Given the description of an element on the screen output the (x, y) to click on. 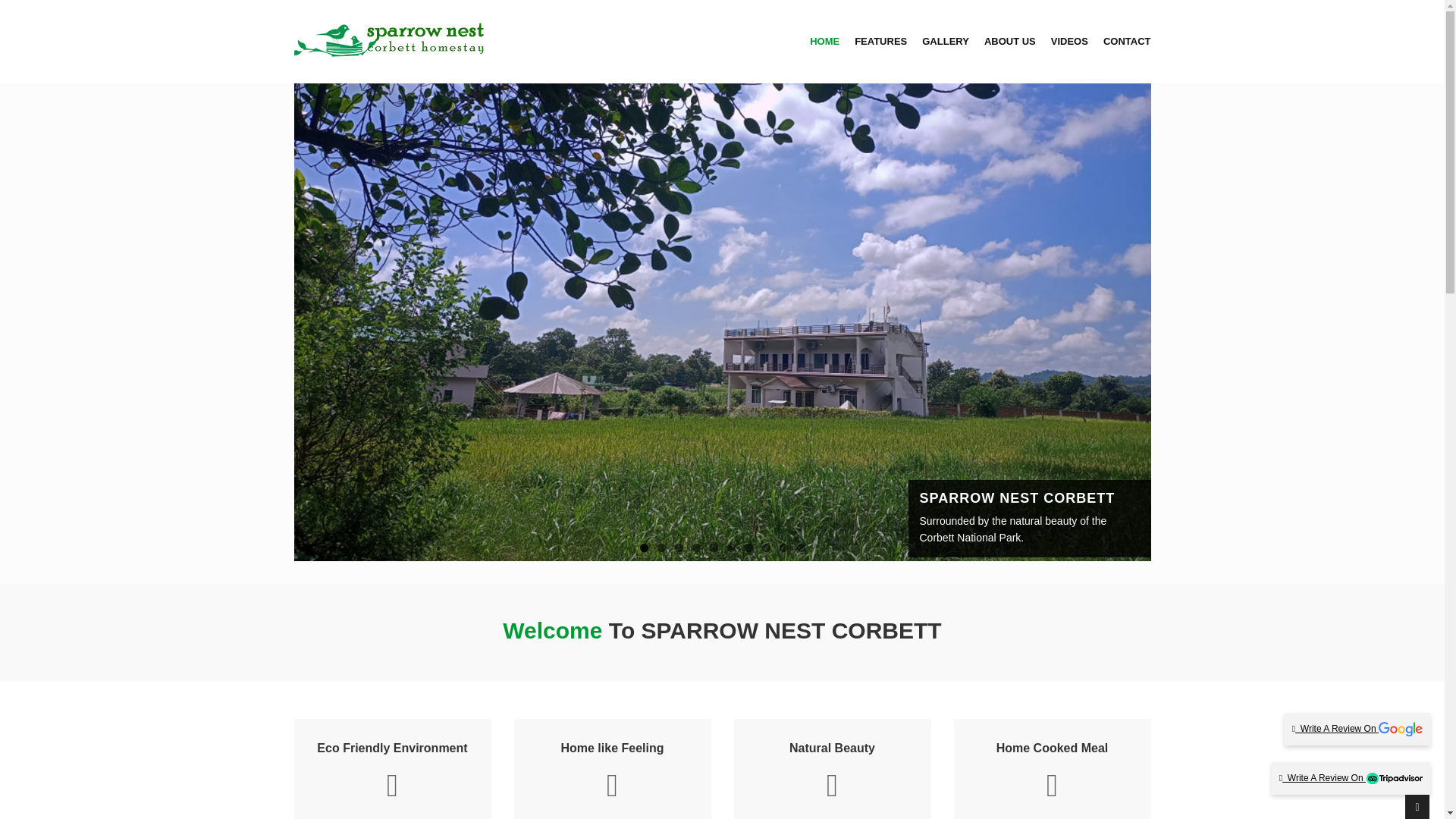
ABOUT US (1009, 41)
CONTACT (1127, 41)
8 (765, 547)
FEATURES (880, 41)
VIDEOS (1069, 41)
2 (660, 547)
6 (730, 547)
7 (748, 547)
3 (678, 547)
9 (782, 547)
